Given the description of an element on the screen output the (x, y) to click on. 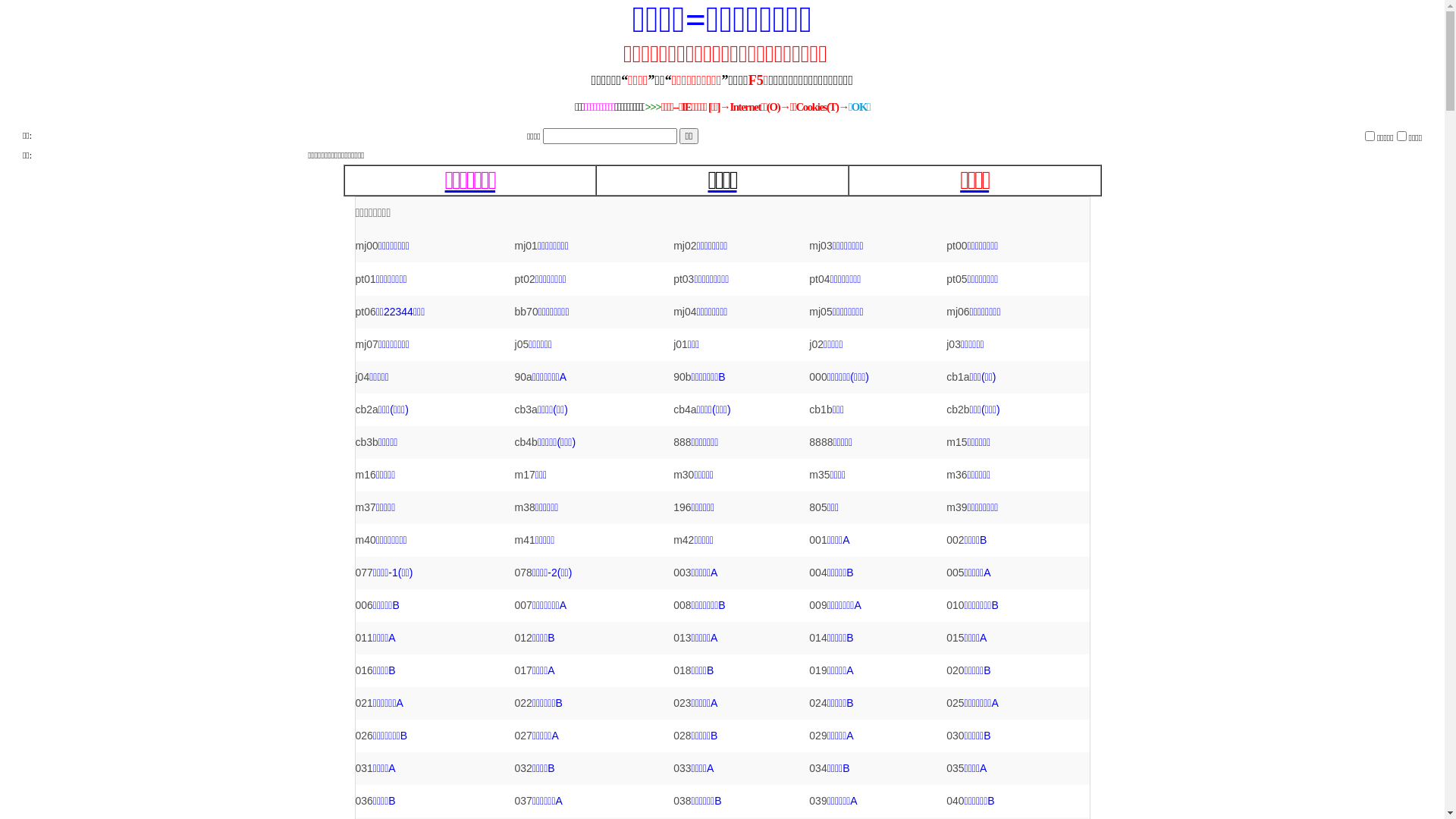
018 Element type: text (681, 670)
cb2b Element type: text (957, 409)
m41 Element type: text (524, 539)
017 Element type: text (523, 670)
033 Element type: text (681, 768)
pt04 Element type: text (819, 279)
010 Element type: text (954, 605)
mj05 Element type: text (820, 311)
019 Element type: text (817, 670)
000 Element type: text (817, 376)
012 Element type: text (523, 637)
j05 Element type: text (521, 344)
026 Element type: text (363, 735)
003 Element type: text (681, 572)
030 Element type: text (954, 735)
pt01 Element type: text (364, 279)
ON Element type: text (1401, 135)
cb2a Element type: text (365, 409)
015 Element type: text (954, 637)
014 Element type: text (817, 637)
005 Element type: text (954, 572)
028 Element type: text (681, 735)
027 Element type: text (523, 735)
024 Element type: text (817, 702)
196 Element type: text (681, 507)
cb3b Element type: text (365, 442)
mj03 Element type: text (820, 245)
cb1b Element type: text (820, 409)
020 Element type: text (954, 670)
90b Element type: text (681, 376)
j03 Element type: text (953, 344)
cb4a Element type: text (684, 409)
001 Element type: text (817, 539)
021 Element type: text (363, 702)
ON Element type: text (1369, 135)
m37 Element type: text (364, 507)
078 Element type: text (523, 572)
009 Element type: text (817, 605)
007 Element type: text (523, 605)
m15 Element type: text (956, 442)
m30 Element type: text (683, 474)
pt03 Element type: text (683, 279)
025 Element type: text (954, 702)
cb4b Element type: text (525, 442)
8888 Element type: text (820, 442)
mj01 Element type: text (525, 245)
008 Element type: text (681, 605)
j04 Element type: text (361, 376)
m42 Element type: text (683, 539)
90a Element type: text (523, 376)
040 Element type: text (954, 800)
023 Element type: text (681, 702)
002 Element type: text (954, 539)
039 Element type: text (817, 800)
m35 Element type: text (819, 474)
m38 Element type: text (524, 507)
022 Element type: text (523, 702)
888 Element type: text (681, 442)
pt05 Element type: text (956, 279)
077 Element type: text (363, 572)
032 Element type: text (523, 768)
mj04 Element type: text (684, 311)
035 Element type: text (954, 768)
cb1a Element type: text (957, 376)
j01 Element type: text (680, 344)
011 Element type: text (363, 637)
pt06 Element type: text (364, 311)
013 Element type: text (681, 637)
pt00 Element type: text (956, 245)
m40 Element type: text (364, 539)
004 Element type: text (817, 572)
bb70 Element type: text (526, 311)
m16 Element type: text (364, 474)
016 Element type: text (363, 670)
029 Element type: text (817, 735)
mj06 Element type: text (957, 311)
034 Element type: text (817, 768)
cb3a Element type: text (525, 409)
036 Element type: text (363, 800)
mj07 Element type: text (365, 344)
m39 Element type: text (956, 507)
038 Element type: text (681, 800)
j02 Element type: text (816, 344)
006 Element type: text (363, 605)
m17 Element type: text (524, 474)
pt02 Element type: text (524, 279)
mj02 Element type: text (684, 245)
037 Element type: text (523, 800)
m36 Element type: text (956, 474)
805 Element type: text (817, 507)
031 Element type: text (363, 768)
